Given the description of an element on the screen output the (x, y) to click on. 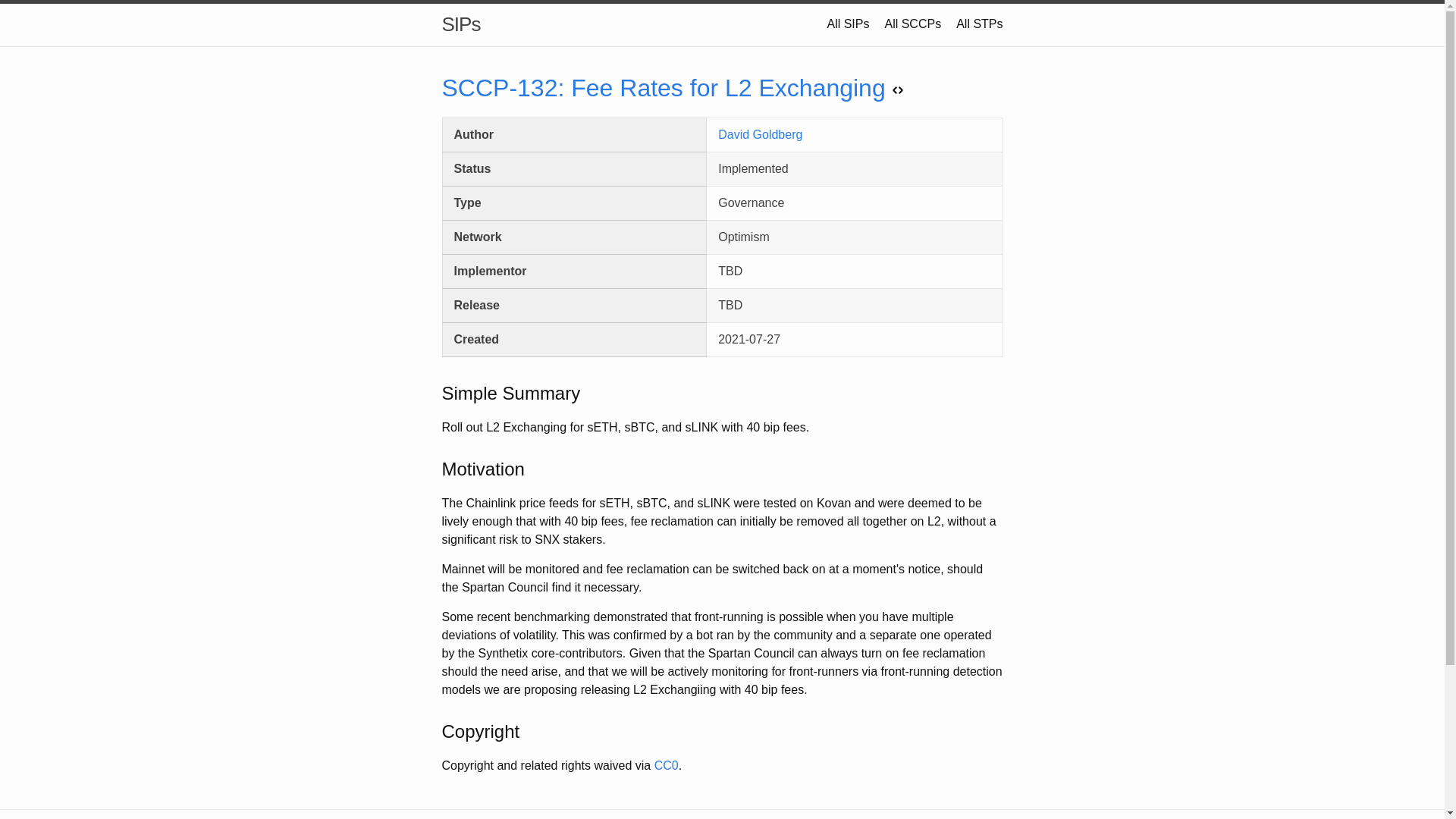
All STPs (979, 23)
All SIPs (848, 23)
SIPs (460, 24)
David Goldberg (759, 133)
SCCP-132: Fee Rates for L2 Exchanging (671, 87)
All SCCPs (911, 23)
CC0 (665, 765)
